Given the description of an element on the screen output the (x, y) to click on. 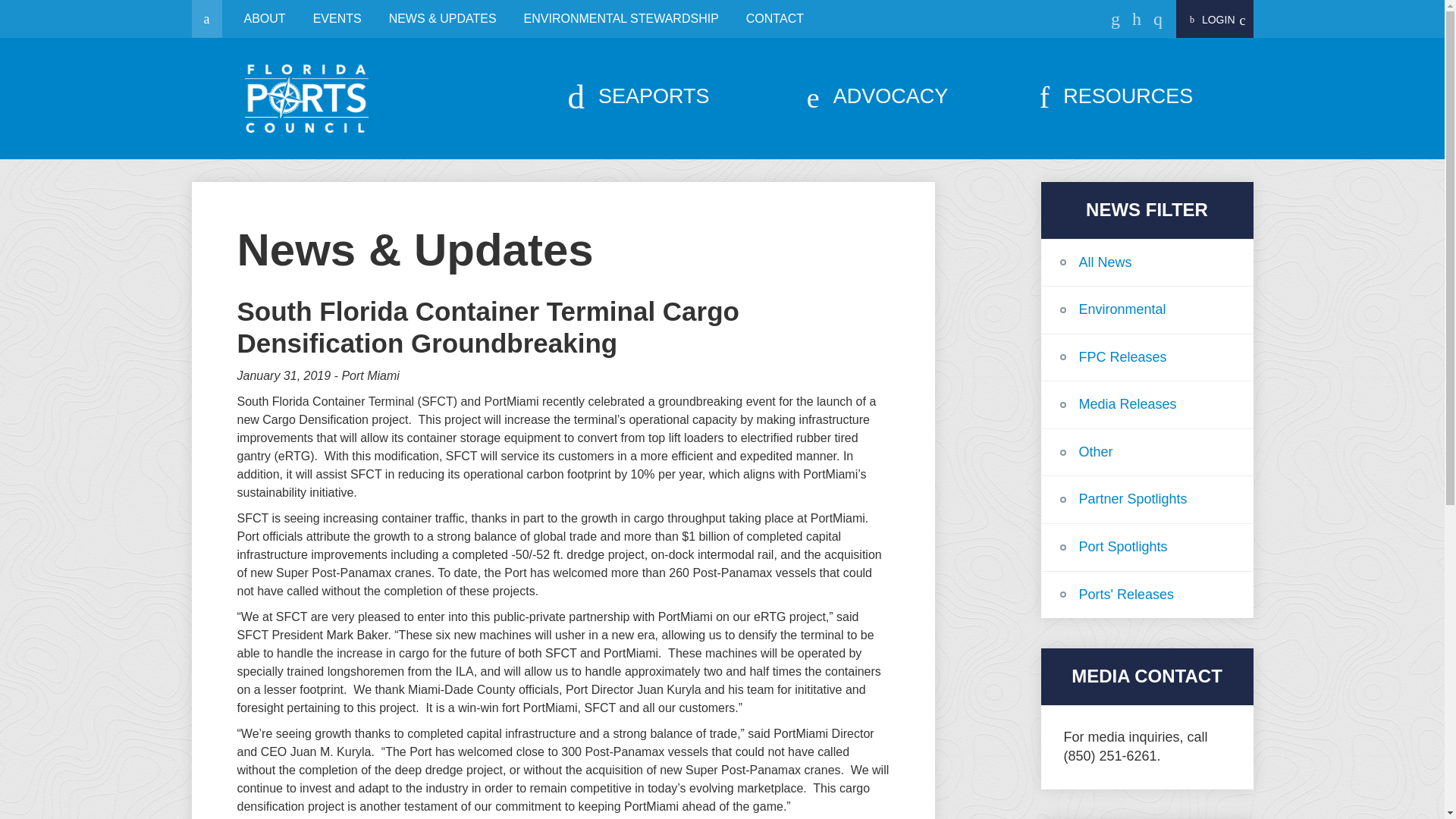
ADVOCACY (877, 96)
EVENTS (337, 18)
CONTACT (774, 18)
LOGIN (1214, 20)
ENVIRONMENTAL STEWARDSHIP (621, 18)
Environmental (1146, 309)
FPC Releases (1146, 357)
RESOURCES (1116, 96)
All News (1146, 262)
ABOUT (264, 18)
